Given the description of an element on the screen output the (x, y) to click on. 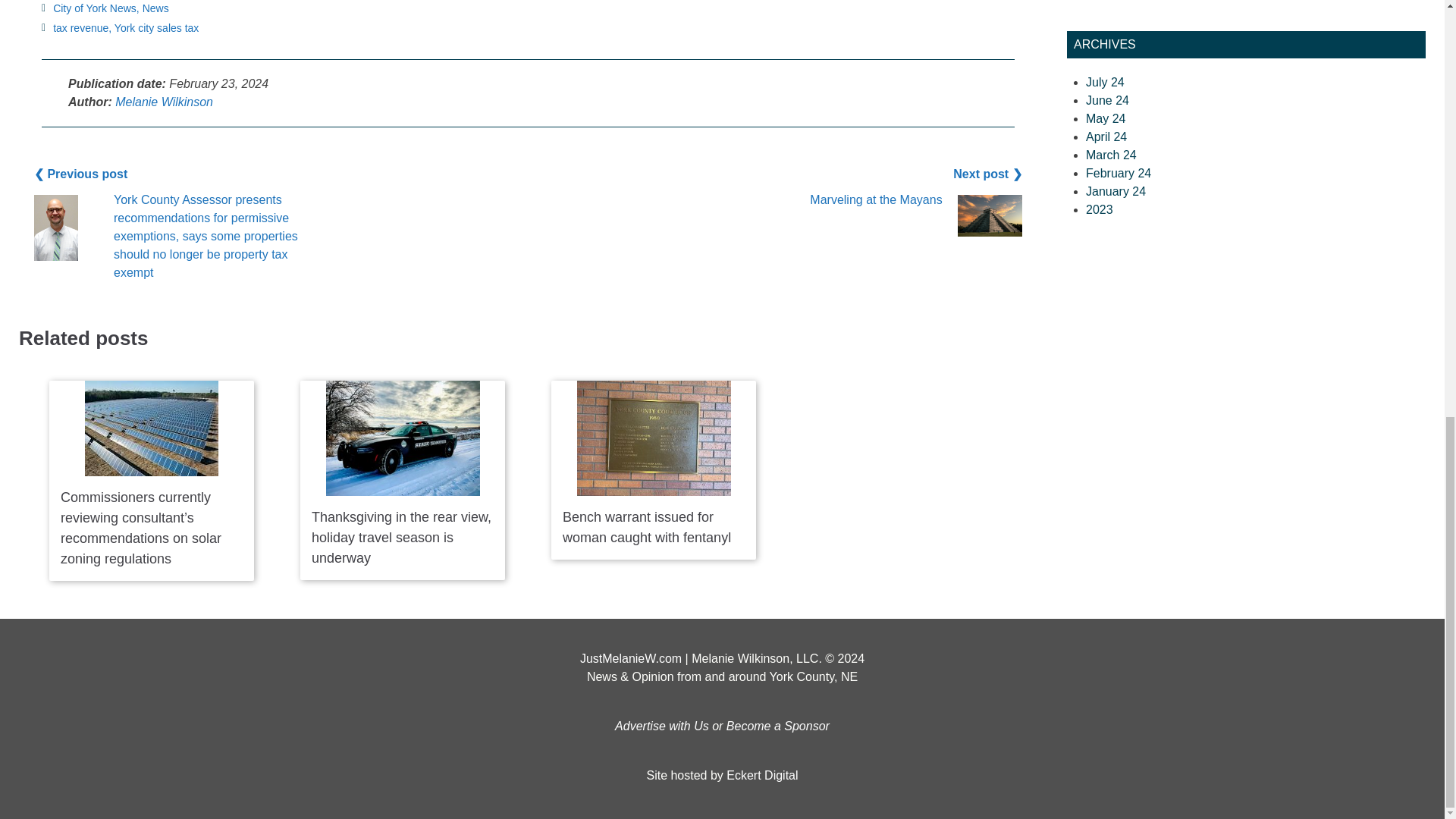
City of York News (94, 8)
Bench warrant issued for woman caught with fentanyl (646, 527)
Bench warrant issued for woman caught with fentanyl (653, 438)
Melanie Wilkinson (163, 101)
Marveling at the Mayans (875, 199)
tax revenue (79, 28)
York city sales tax (157, 28)
News (155, 8)
